Given the description of an element on the screen output the (x, y) to click on. 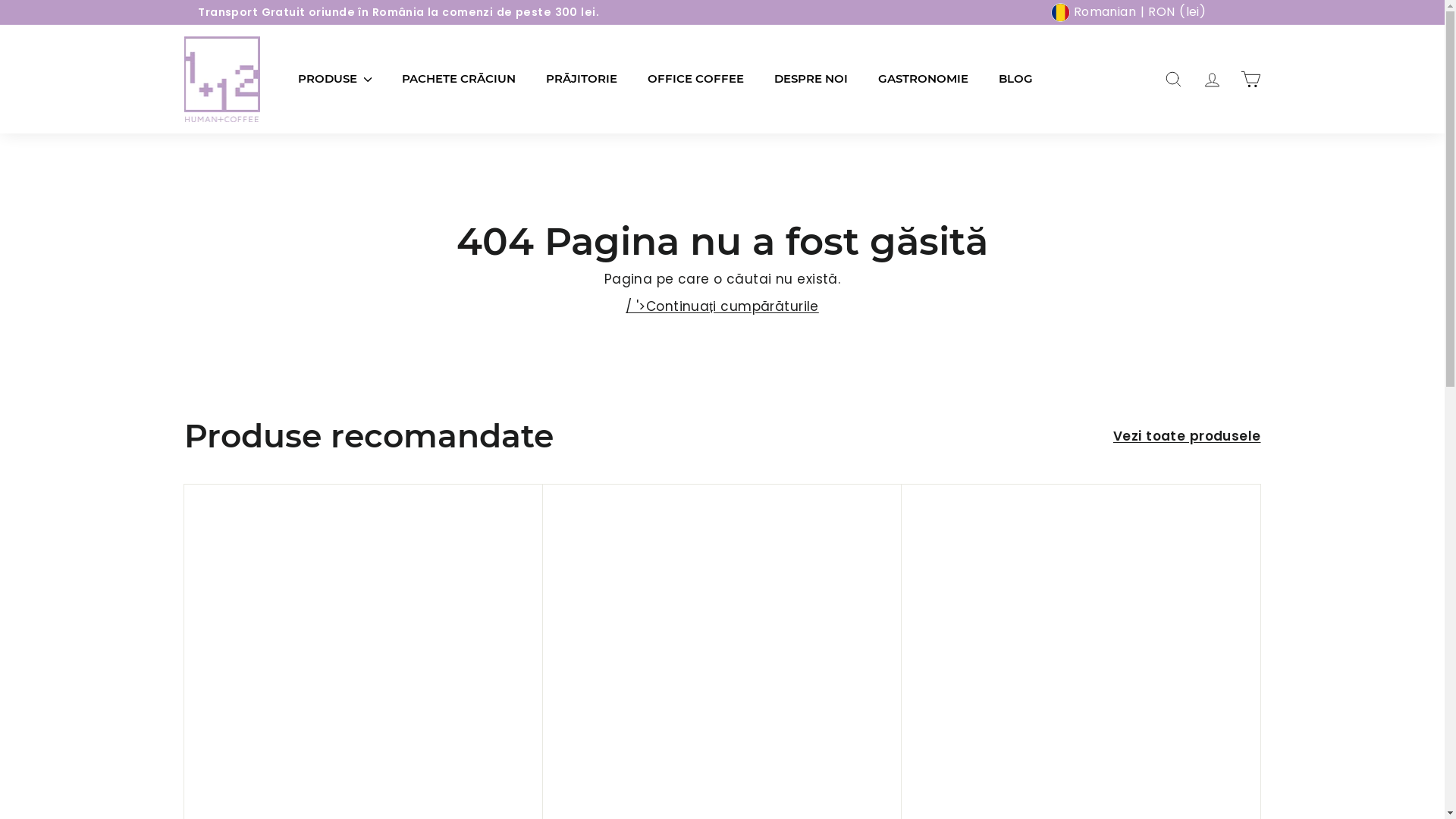
CONT Element type: text (1211, 78)
DESPRE NOI Element type: text (810, 78)
Vezi toate produsele Element type: text (1187, 436)
OFFICE COFFEE Element type: text (695, 78)
GASTRONOMIE Element type: text (922, 78)
BLOG Element type: text (1014, 78)
